Given the description of an element on the screen output the (x, y) to click on. 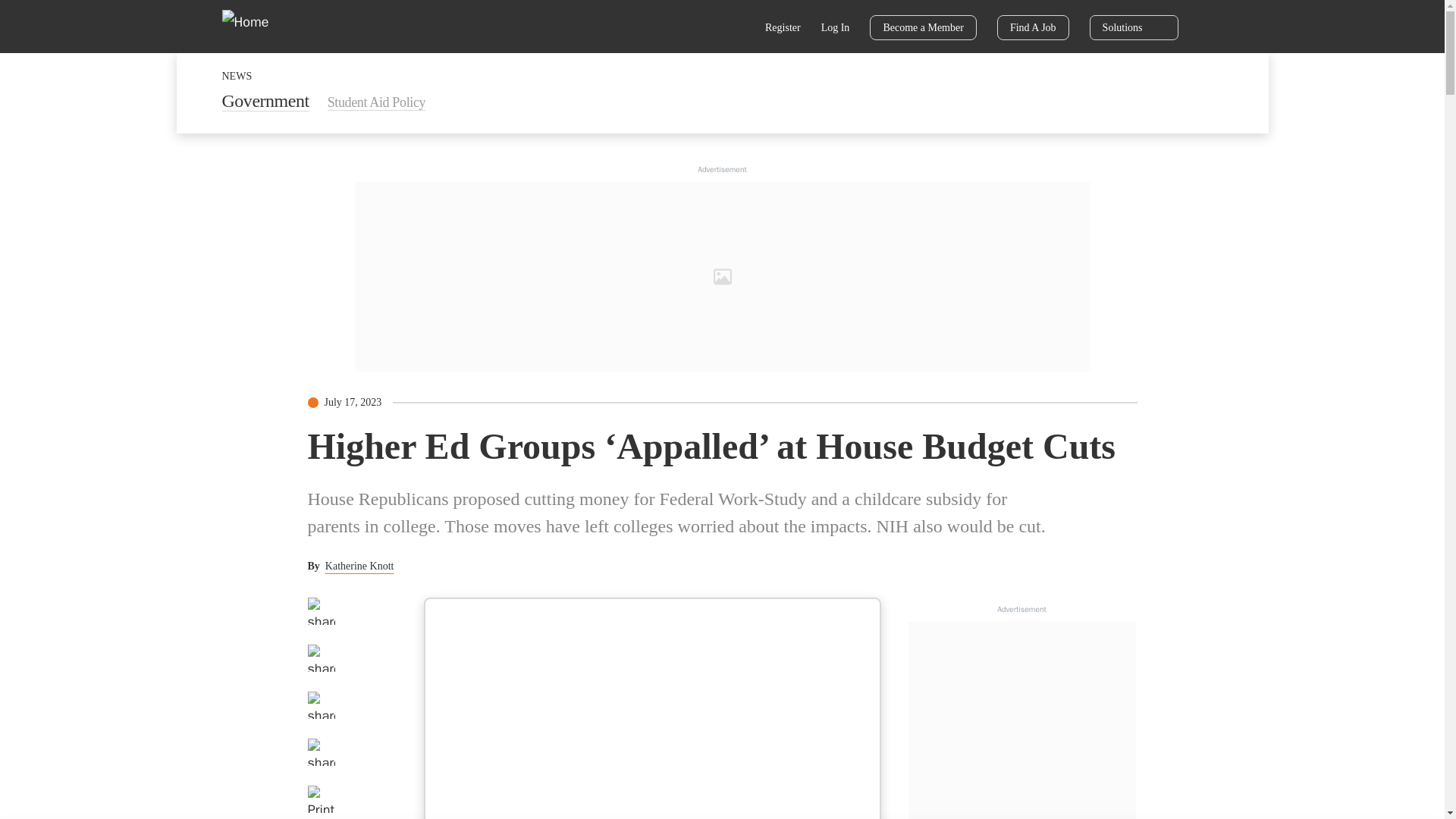
share to Linkedin (320, 705)
Become a Member (922, 27)
share by email (320, 751)
share to facebook (320, 610)
Find A Job (1032, 27)
Search (736, 28)
share to twitter (320, 657)
Home (255, 26)
